Given the description of an element on the screen output the (x, y) to click on. 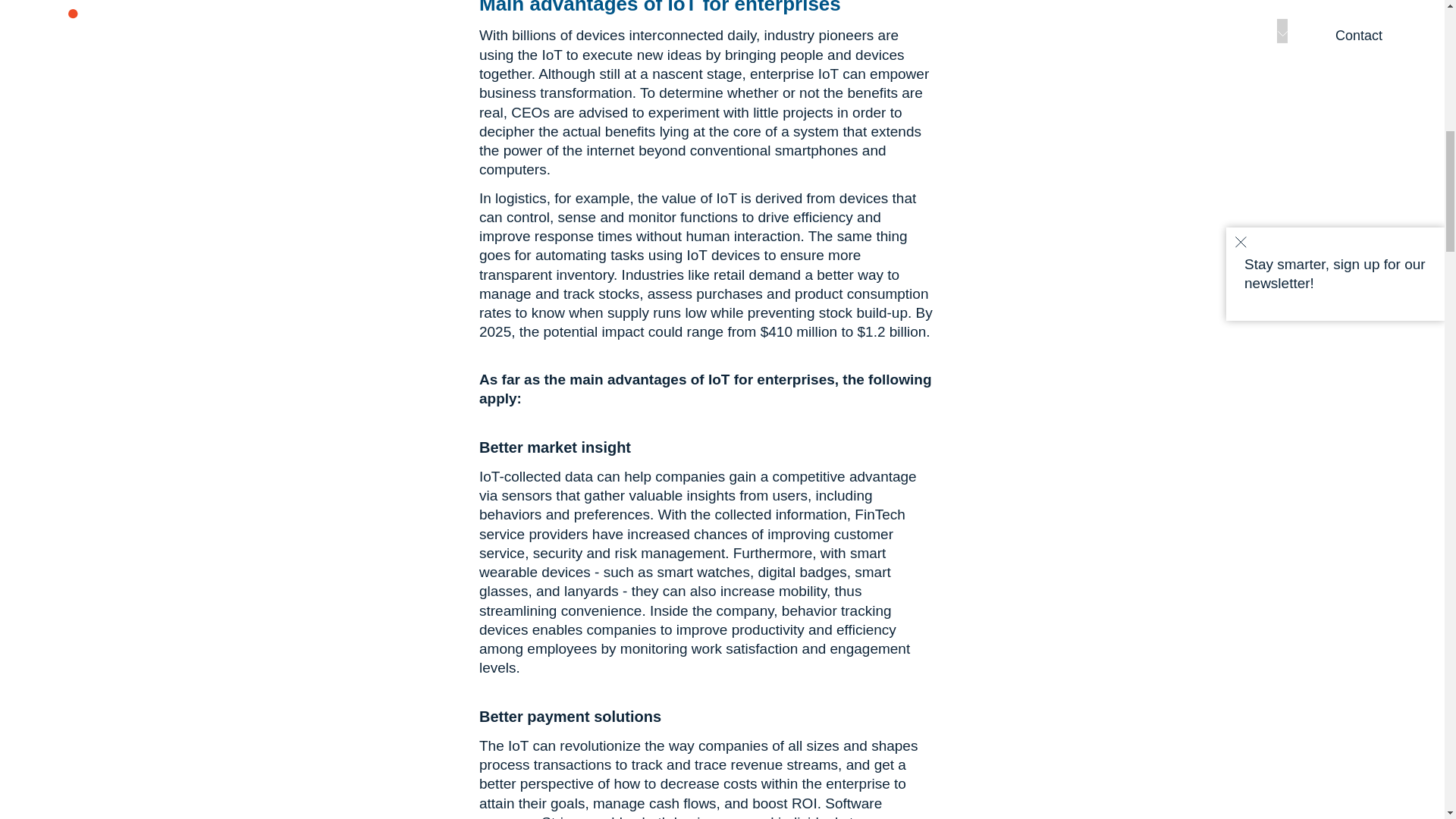
smart wearable devices (682, 562)
